Given the description of an element on the screen output the (x, y) to click on. 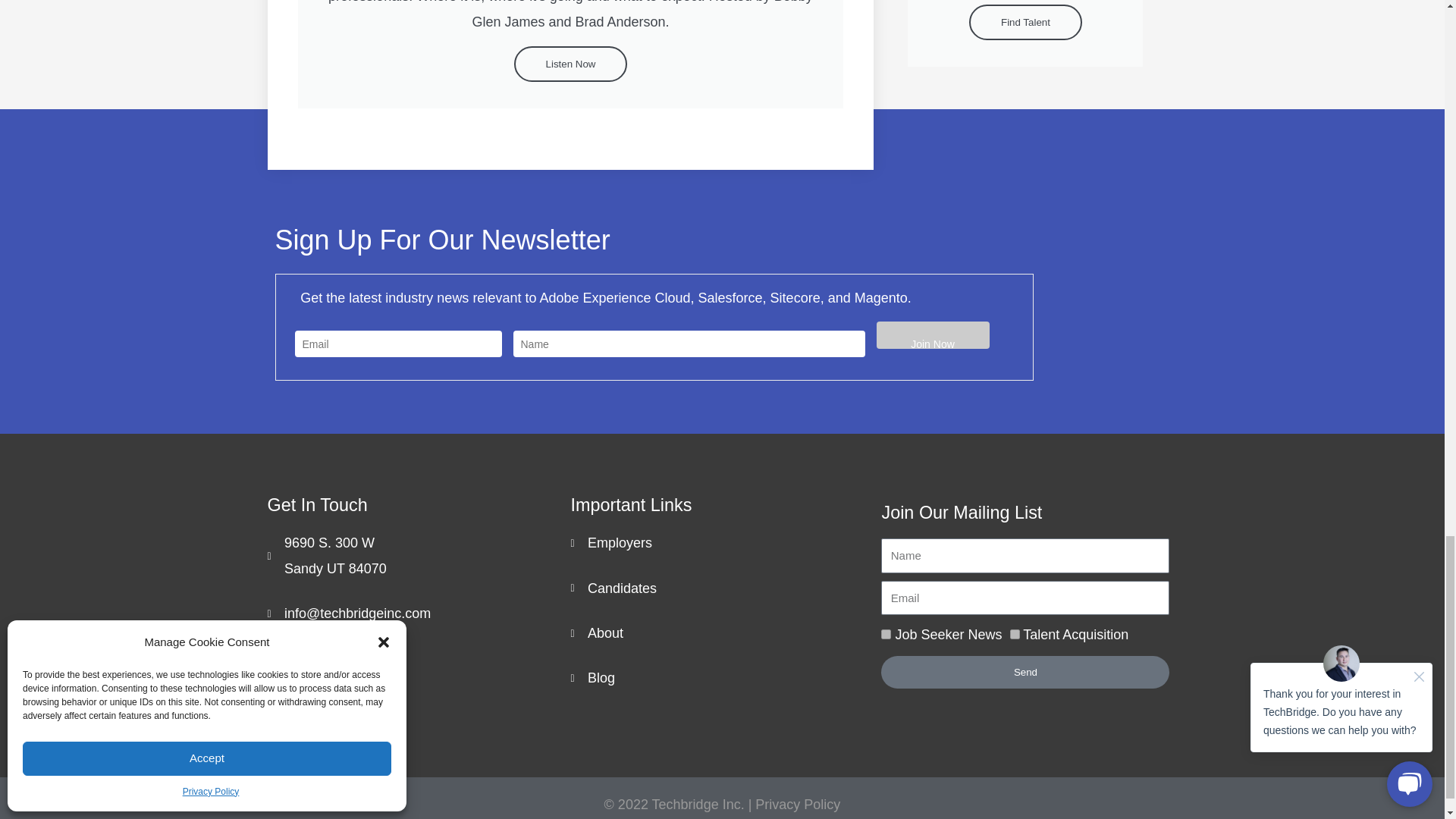
Talent Acquisition (1015, 634)
Join Now (933, 334)
Job Seeker News (885, 634)
